Given the description of an element on the screen output the (x, y) to click on. 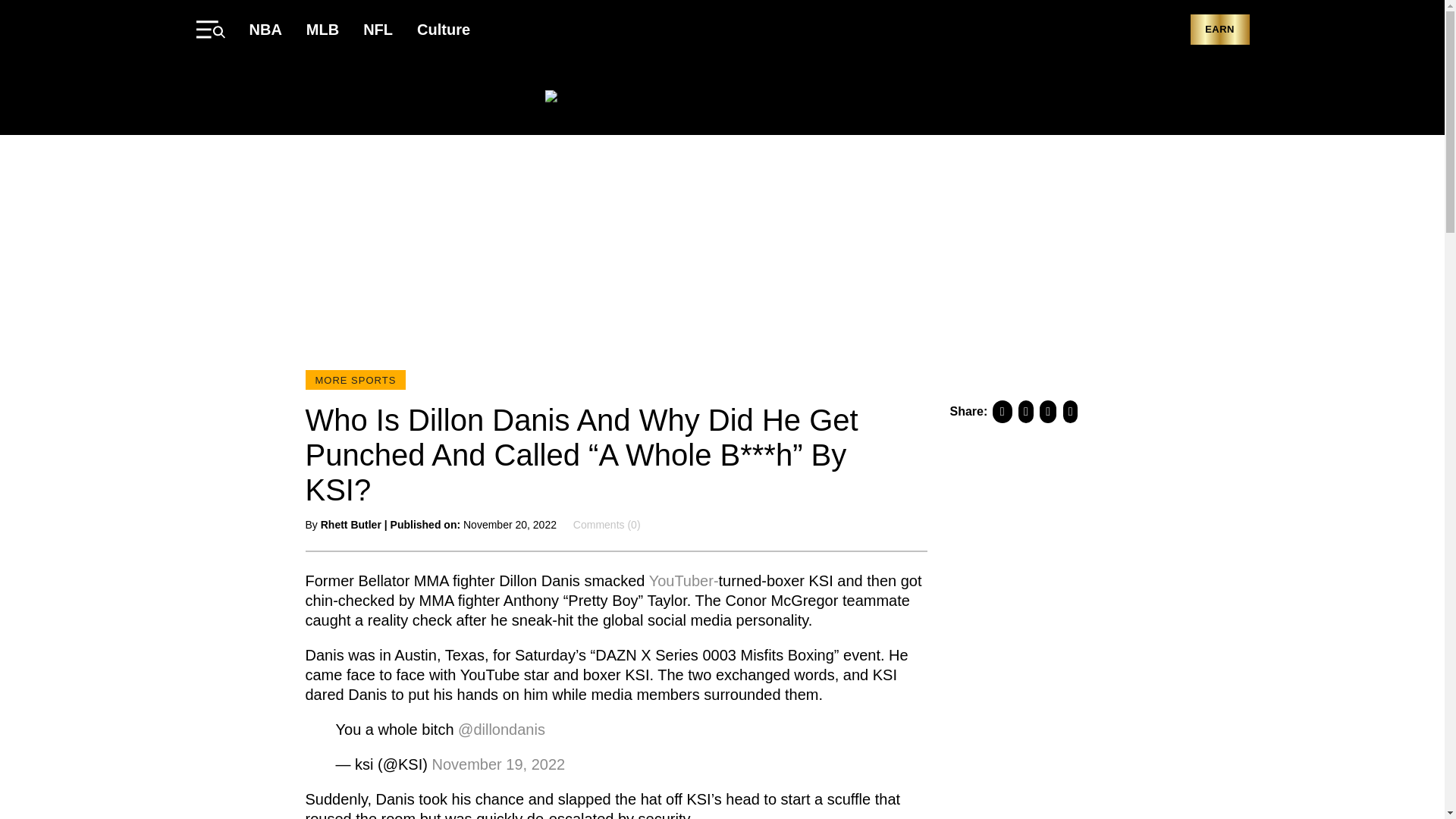
November 19, 2022 (497, 763)
NBA (264, 29)
Rhett Butler (350, 524)
The Shadow League (721, 97)
Culture (443, 29)
Facebook (1149, 96)
Instagram (1240, 96)
YouTuber- (684, 579)
EARN (1220, 29)
Primary Menu (209, 29)
MORE SPORTS (355, 379)
MLB (322, 29)
NFL (377, 29)
Youtube (1210, 96)
Twitter (1179, 96)
